Given the description of an element on the screen output the (x, y) to click on. 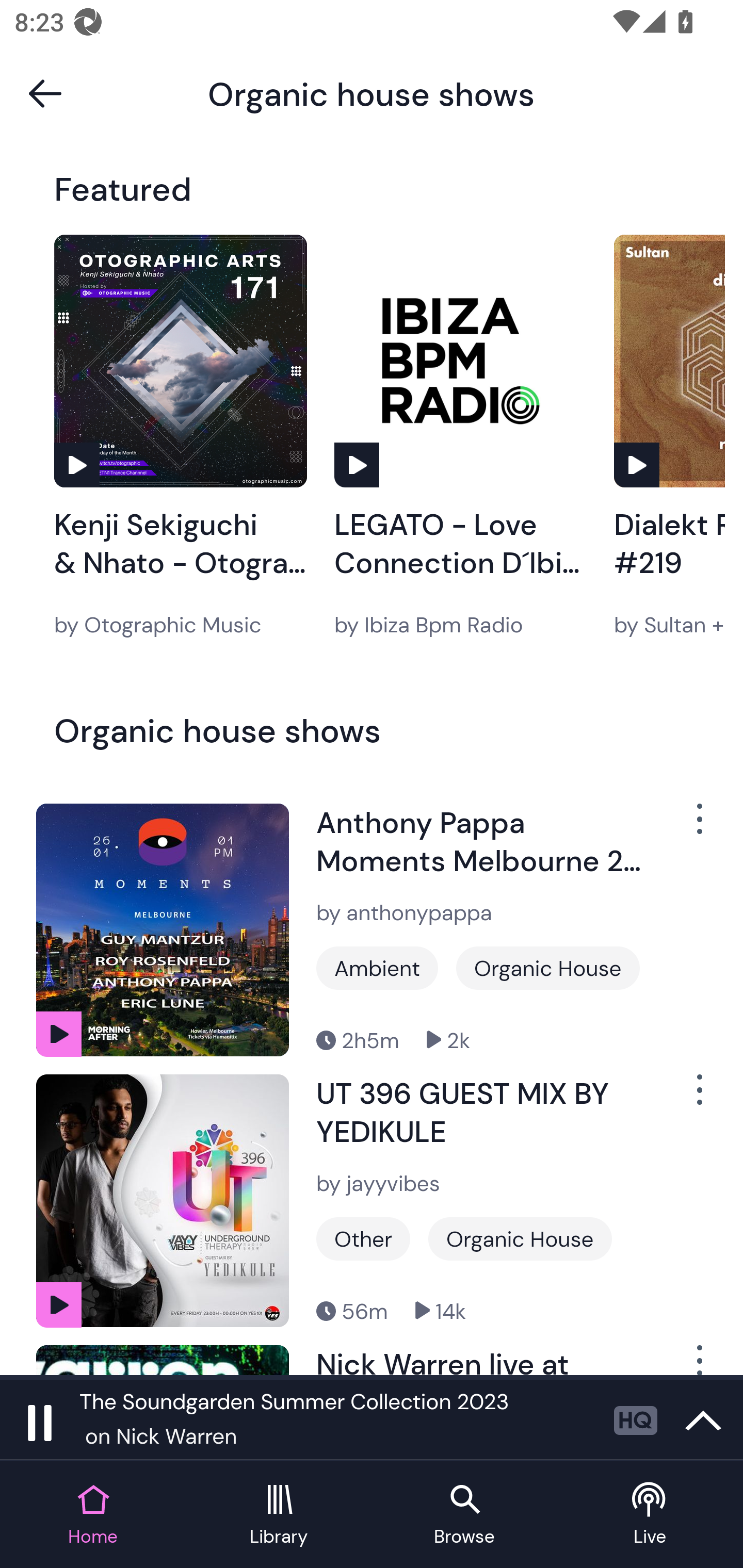
Show Options Menu Button (697, 825)
Ambient (377, 968)
Organic House (547, 968)
Show Options Menu Button (697, 1097)
Other (363, 1238)
Organic House (519, 1238)
Show Options Menu Button (697, 1360)
Home tab Home (92, 1515)
Library tab Library (278, 1515)
Browse tab Browse (464, 1515)
Live tab Live (650, 1515)
